Given the description of an element on the screen output the (x, y) to click on. 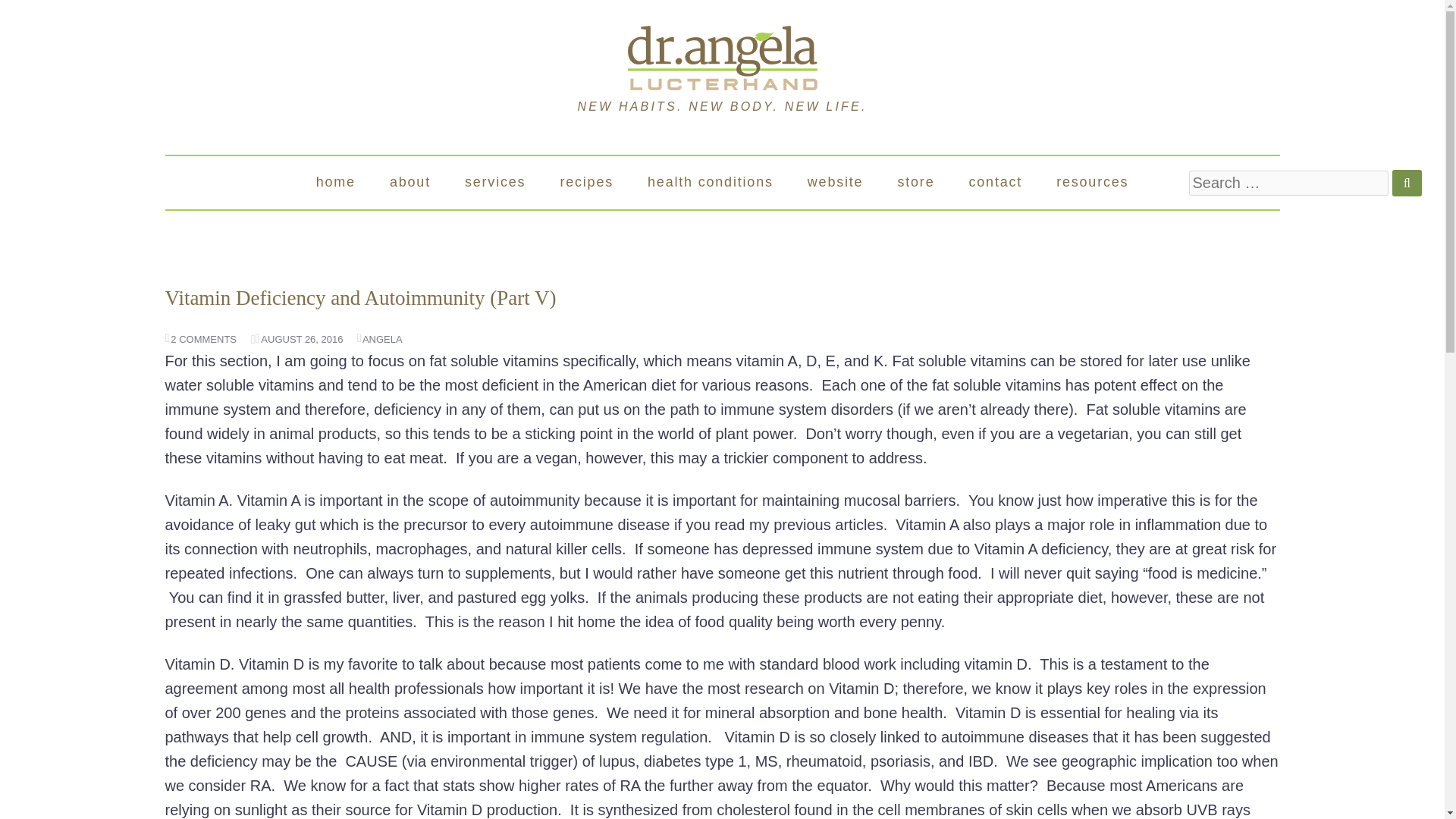
skip to content (234, 182)
2:18 pm (298, 338)
about (409, 182)
Skip to content (234, 182)
store (915, 182)
2 COMMENTS (201, 338)
AUGUST 26, 2016 (298, 338)
resources (1091, 182)
View all posts by Angela (379, 338)
services (494, 182)
website (835, 182)
contact (994, 182)
health conditions (710, 182)
ANGELA (379, 338)
Dr. Angela Lucterhand (721, 56)
